Given the description of an element on the screen output the (x, y) to click on. 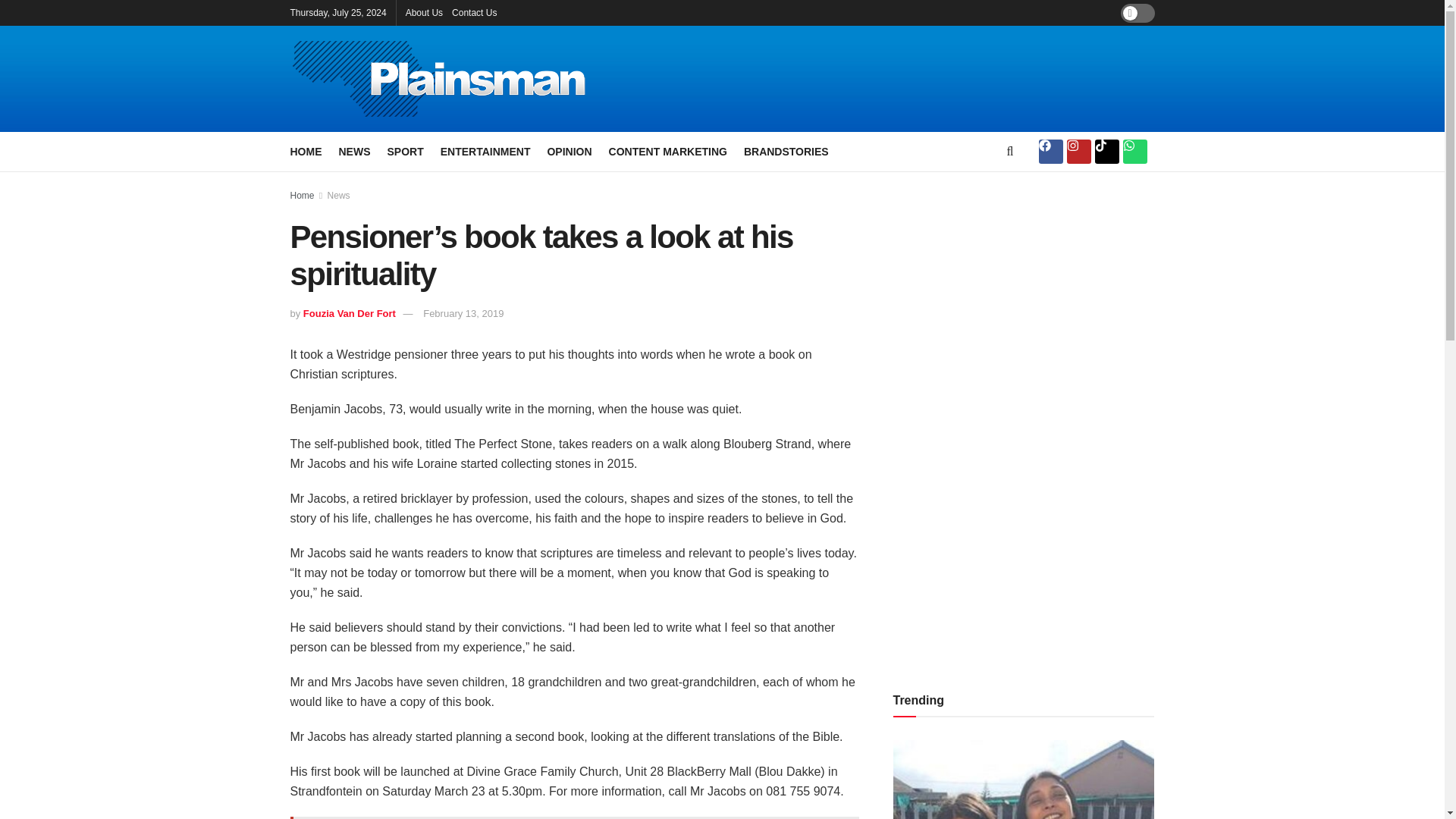
3rd party ad content (888, 79)
Fouzia Van Der Fort (349, 313)
NEWS (353, 151)
ENTERTAINMENT (486, 151)
BRANDSTORIES (786, 151)
SPORT (405, 151)
February 13, 2019 (463, 313)
Home (301, 195)
CONTENT MARKETING (667, 151)
News (338, 195)
Contact Us (473, 12)
HOME (305, 151)
About Us (424, 12)
OPINION (569, 151)
